Given the description of an element on the screen output the (x, y) to click on. 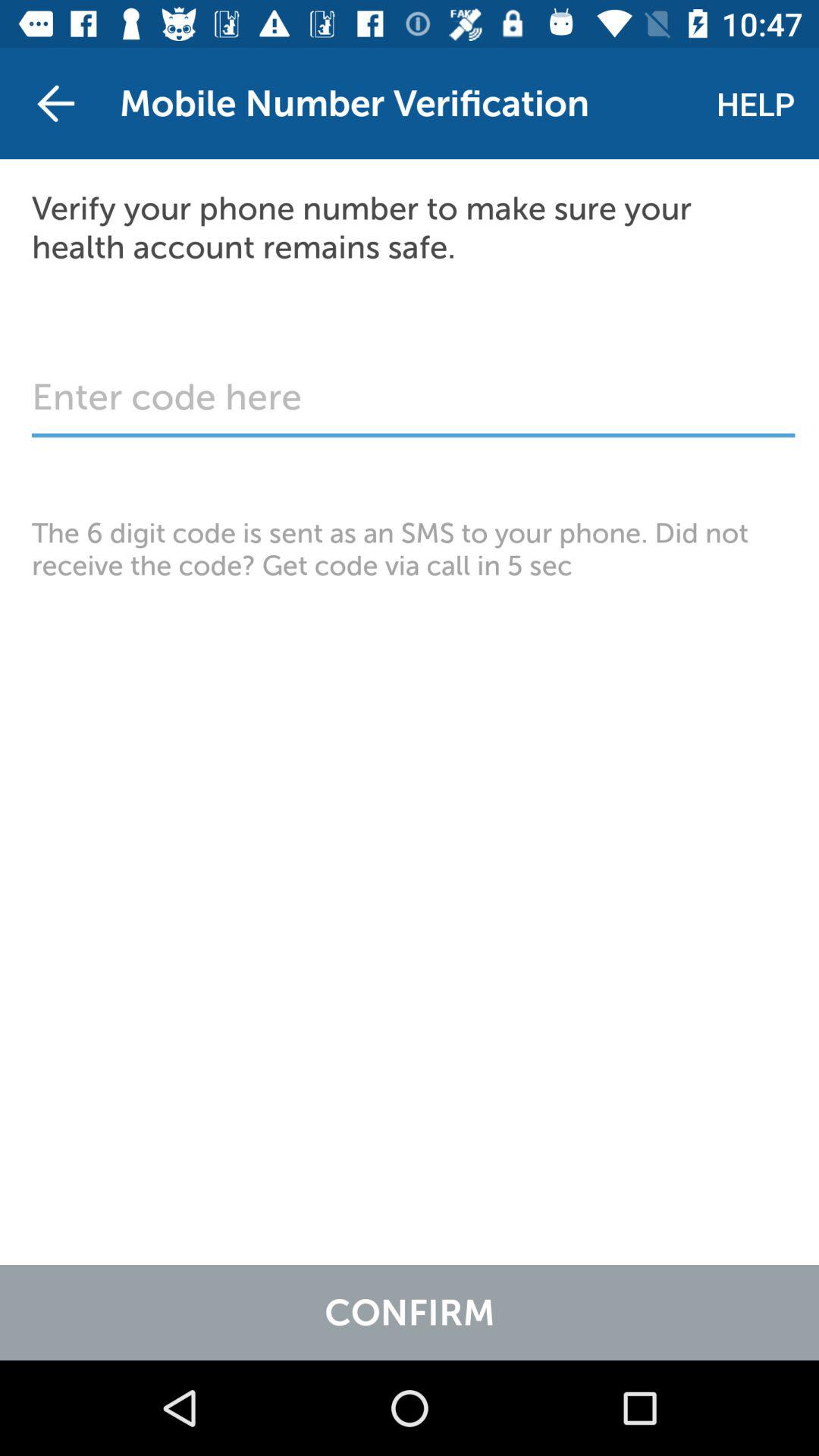
enter code (413, 404)
